Given the description of an element on the screen output the (x, y) to click on. 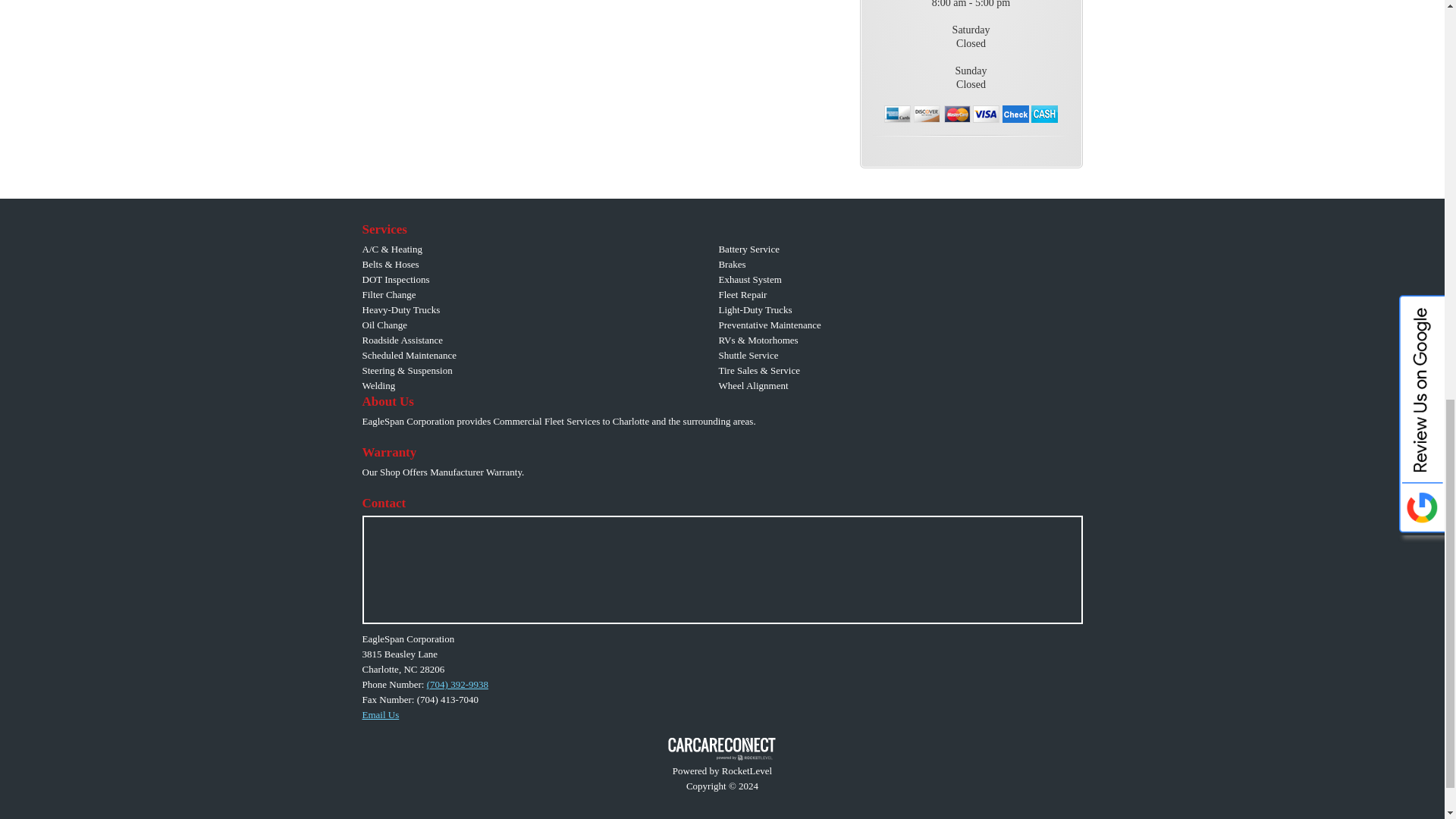
Email Us (380, 714)
RocketLevel (721, 756)
